Given the description of an element on the screen output the (x, y) to click on. 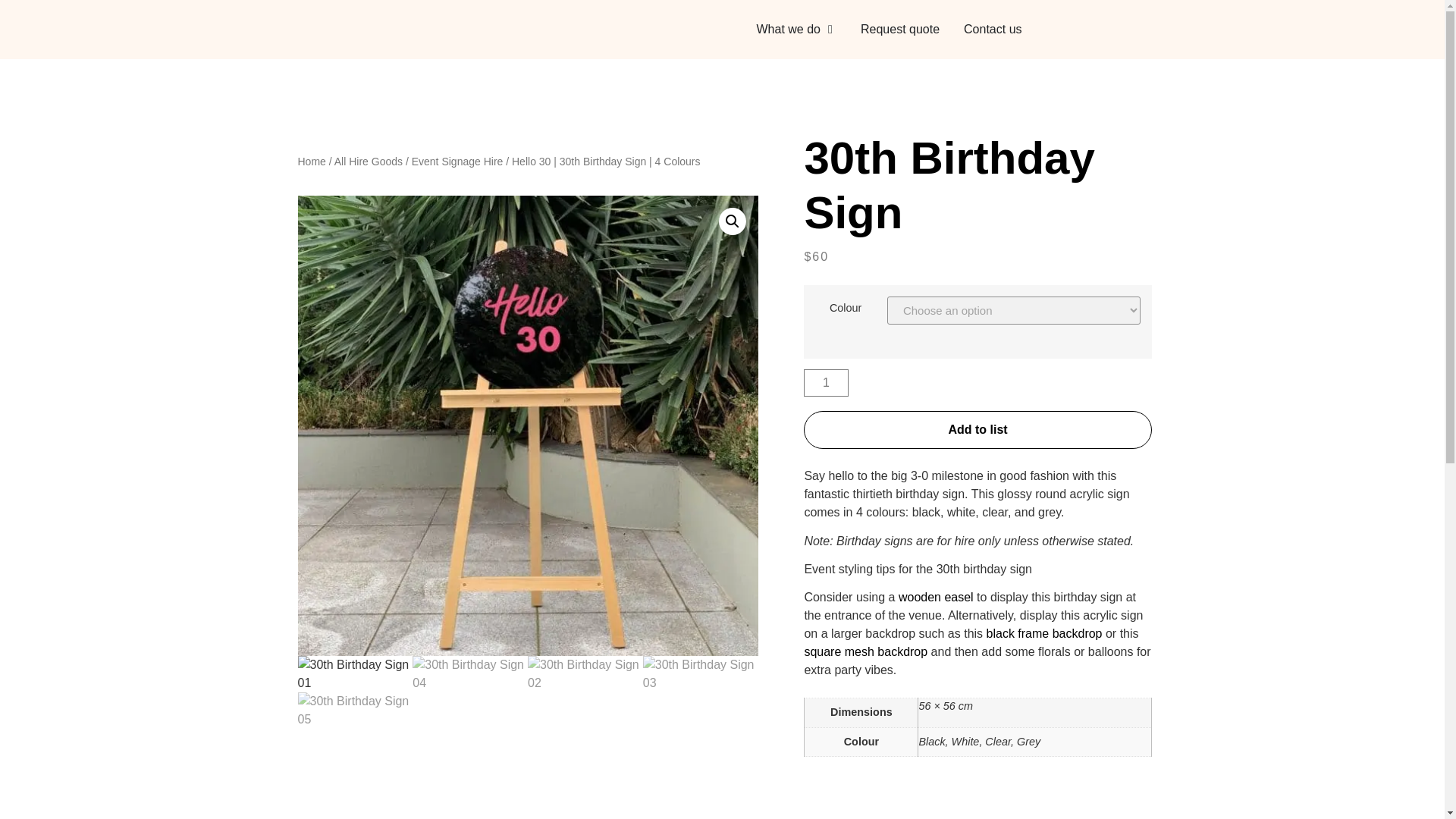
Home (310, 161)
What we do (789, 29)
black frame backdrop (1044, 633)
wooden easel (936, 596)
Request quote (899, 29)
Contact us (992, 29)
Event Signage Hire (457, 161)
Add to list (977, 429)
1 (825, 382)
